Given the description of an element on the screen output the (x, y) to click on. 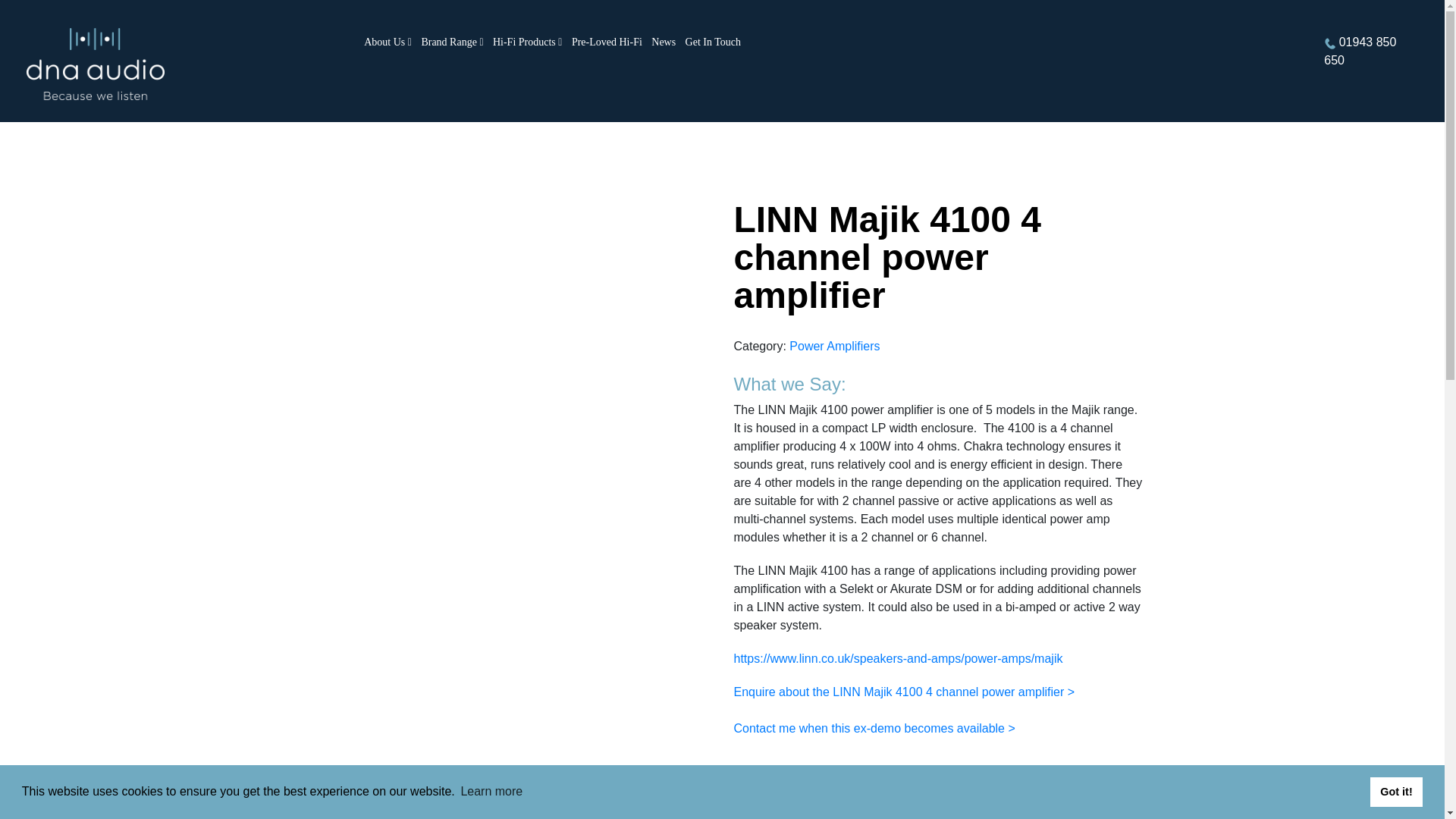
Learn more (491, 791)
Got it! (1396, 791)
Logo (95, 67)
